Given the description of an element on the screen output the (x, y) to click on. 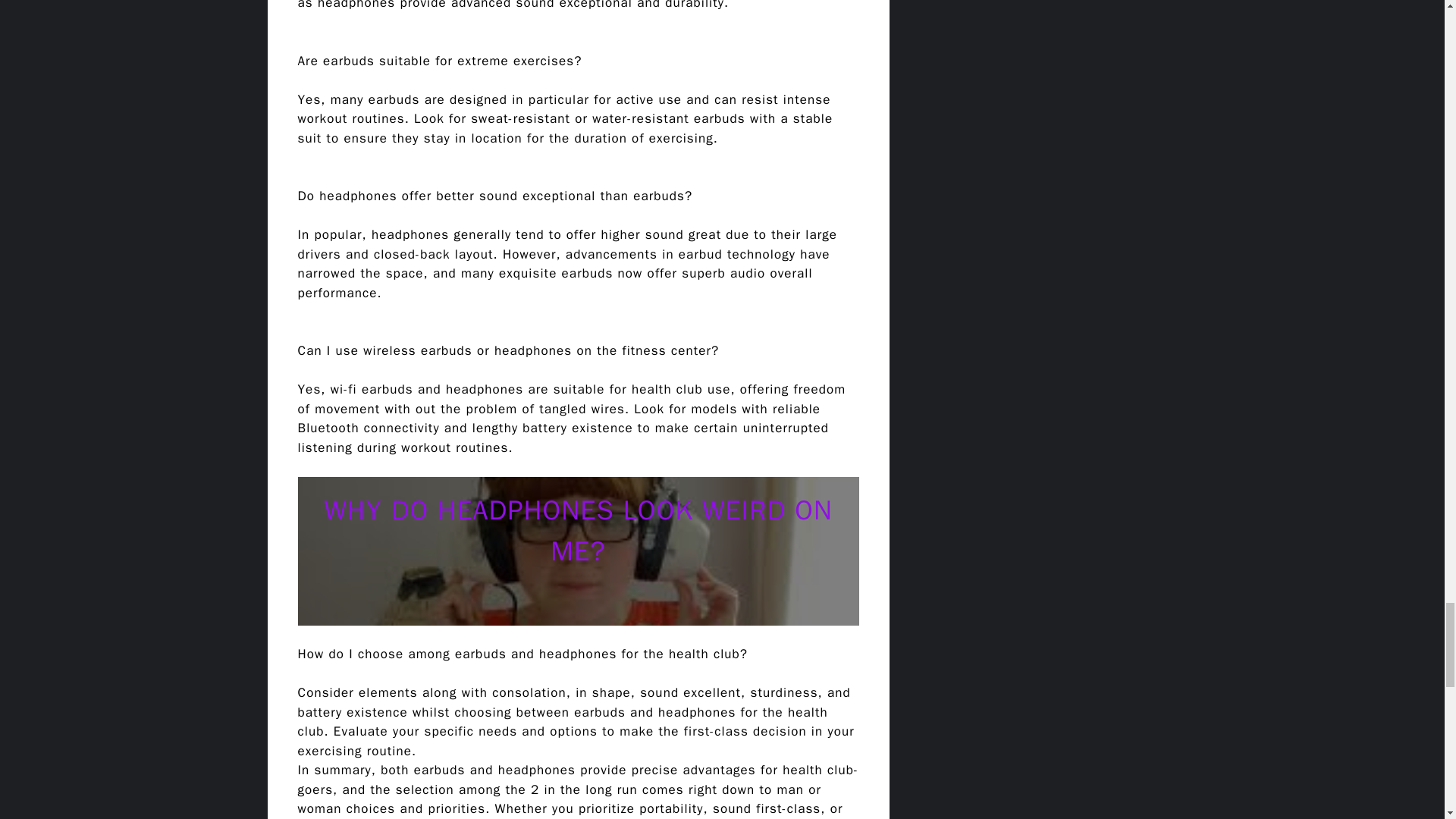
WHY DO HEADPHONES LOOK WEIRD ON ME? (577, 530)
